Given the description of an element on the screen output the (x, y) to click on. 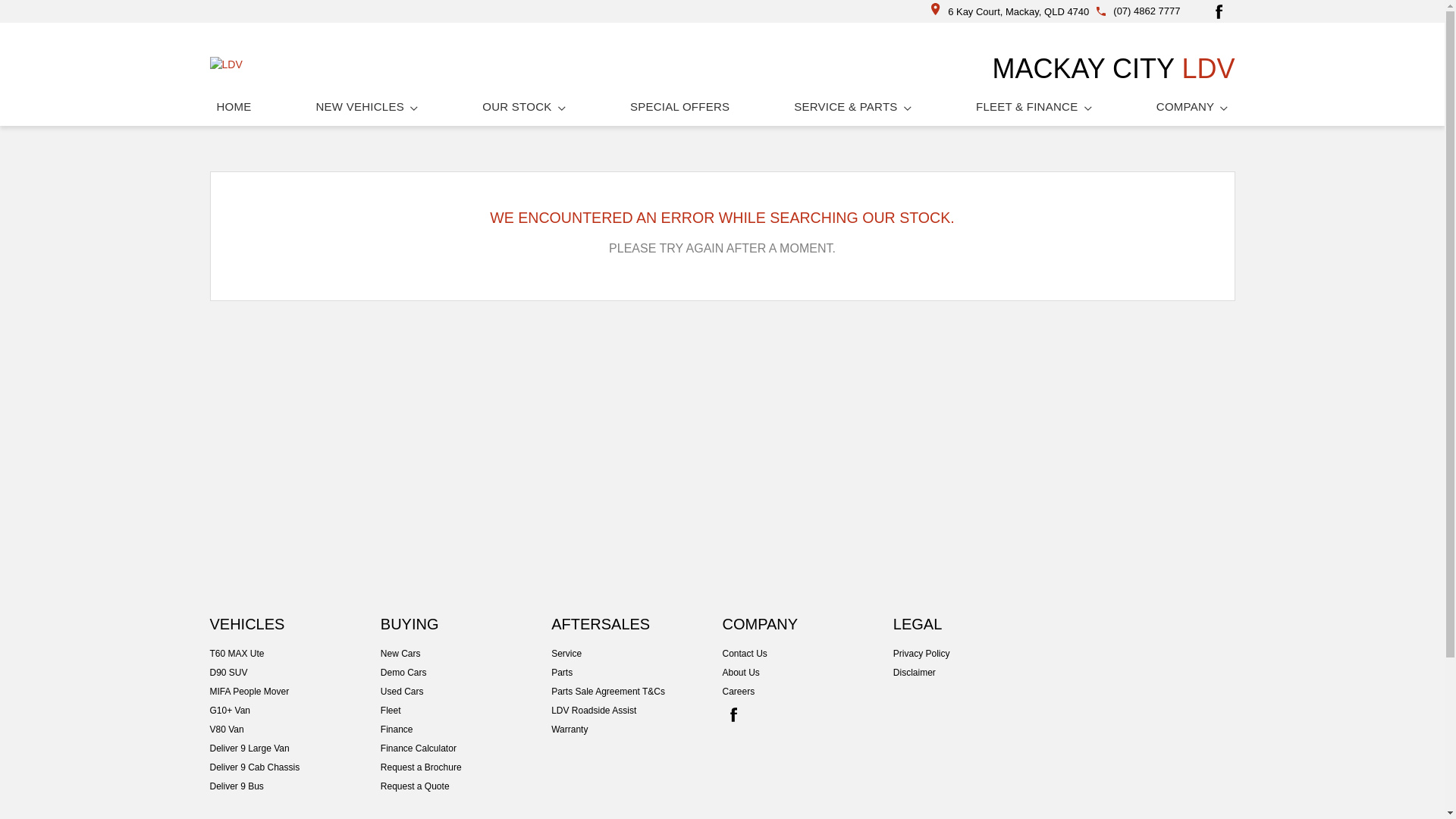
Deliver 9 Bus Element type: text (294, 785)
(07) 4862 7777 Element type: text (1146, 10)
Parts Element type: text (636, 672)
FLEET & FINANCE Element type: text (1033, 106)
MIFA People Mover Element type: text (294, 691)
LDV Roadside Assist Element type: text (636, 710)
Warranty Element type: text (636, 729)
Service Element type: text (636, 653)
V80 Van Element type: text (294, 729)
Finance Element type: text (465, 729)
OUR STOCK Element type: text (523, 106)
Demo Cars Element type: text (465, 672)
Disclaimer Element type: text (978, 672)
New Cars Element type: text (465, 653)
About Us Element type: text (806, 672)
HOME Element type: text (233, 106)
T60 MAX Ute Element type: text (294, 653)
Careers Element type: text (806, 691)
Fleet Element type: text (465, 710)
Request a Brochure Element type: text (465, 767)
D90 SUV Element type: text (294, 672)
Privacy Policy Element type: text (978, 653)
SERVICE & PARTS Element type: text (852, 106)
Deliver 9 Cab Chassis Element type: text (294, 767)
Finance Calculator Element type: text (465, 748)
Used Cars Element type: text (465, 691)
Deliver 9 Large Van Element type: text (294, 748)
Contact Us Element type: text (806, 653)
G10+ Van Element type: text (294, 710)
6 Kay Court, Mackay, QLD 4740 Element type: text (1009, 11)
SPECIAL OFFERS Element type: text (679, 106)
Request a Quote Element type: text (465, 785)
NEW VEHICLES Element type: text (367, 106)
COMPANY Element type: text (1192, 106)
Parts Sale Agreement T&Cs Element type: text (636, 691)
